Given the description of an element on the screen output the (x, y) to click on. 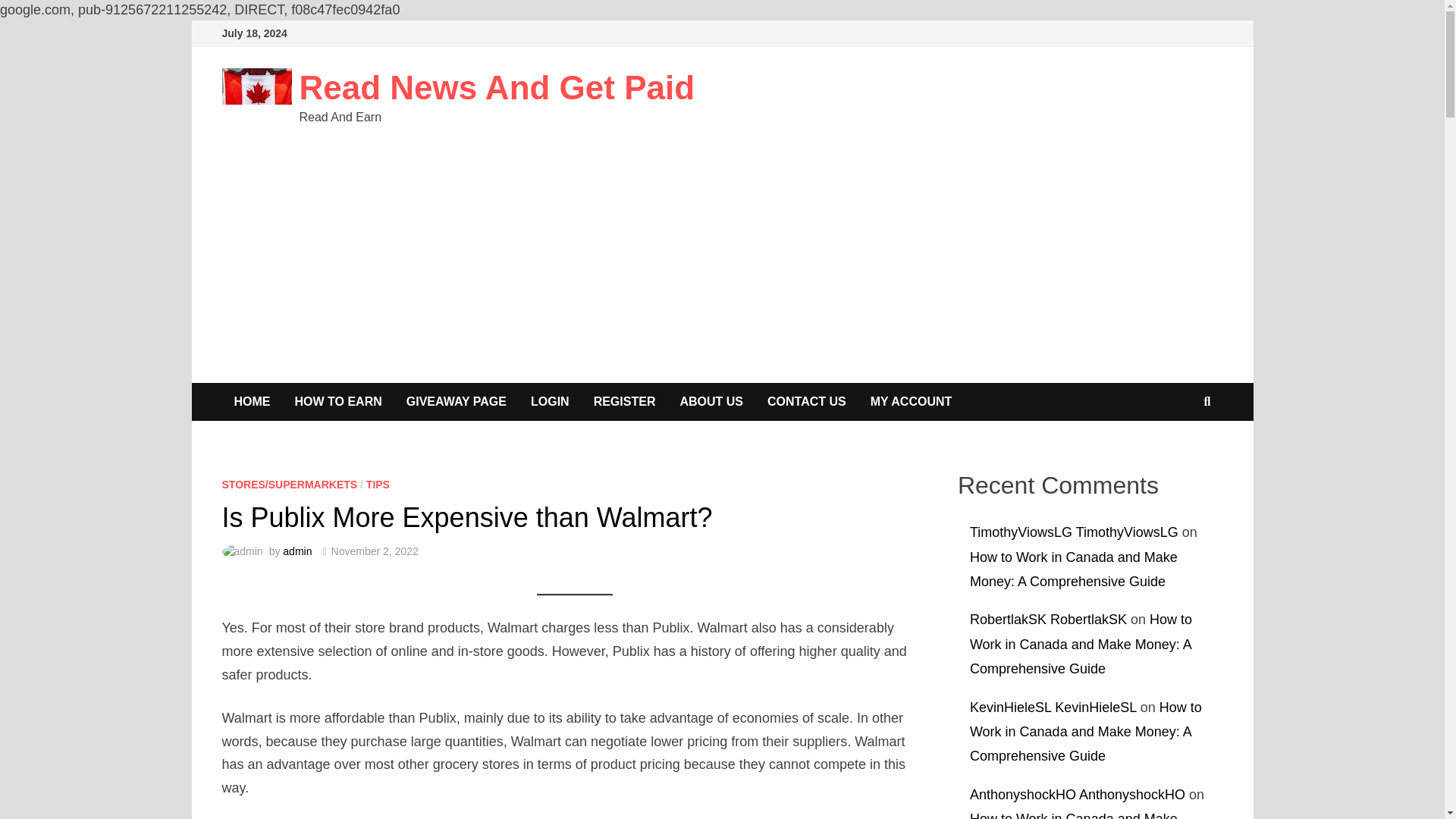
November 2, 2022 (375, 551)
CONTACT US (807, 401)
TIPS (378, 484)
HOME (251, 401)
GIVEAWAY PAGE (456, 401)
Read News And Get Paid (496, 87)
LOGIN (549, 401)
MY ACCOUNT (911, 401)
HOW TO EARN (337, 401)
REGISTER (624, 401)
ABOUT US (710, 401)
admin (296, 551)
